Given the description of an element on the screen output the (x, y) to click on. 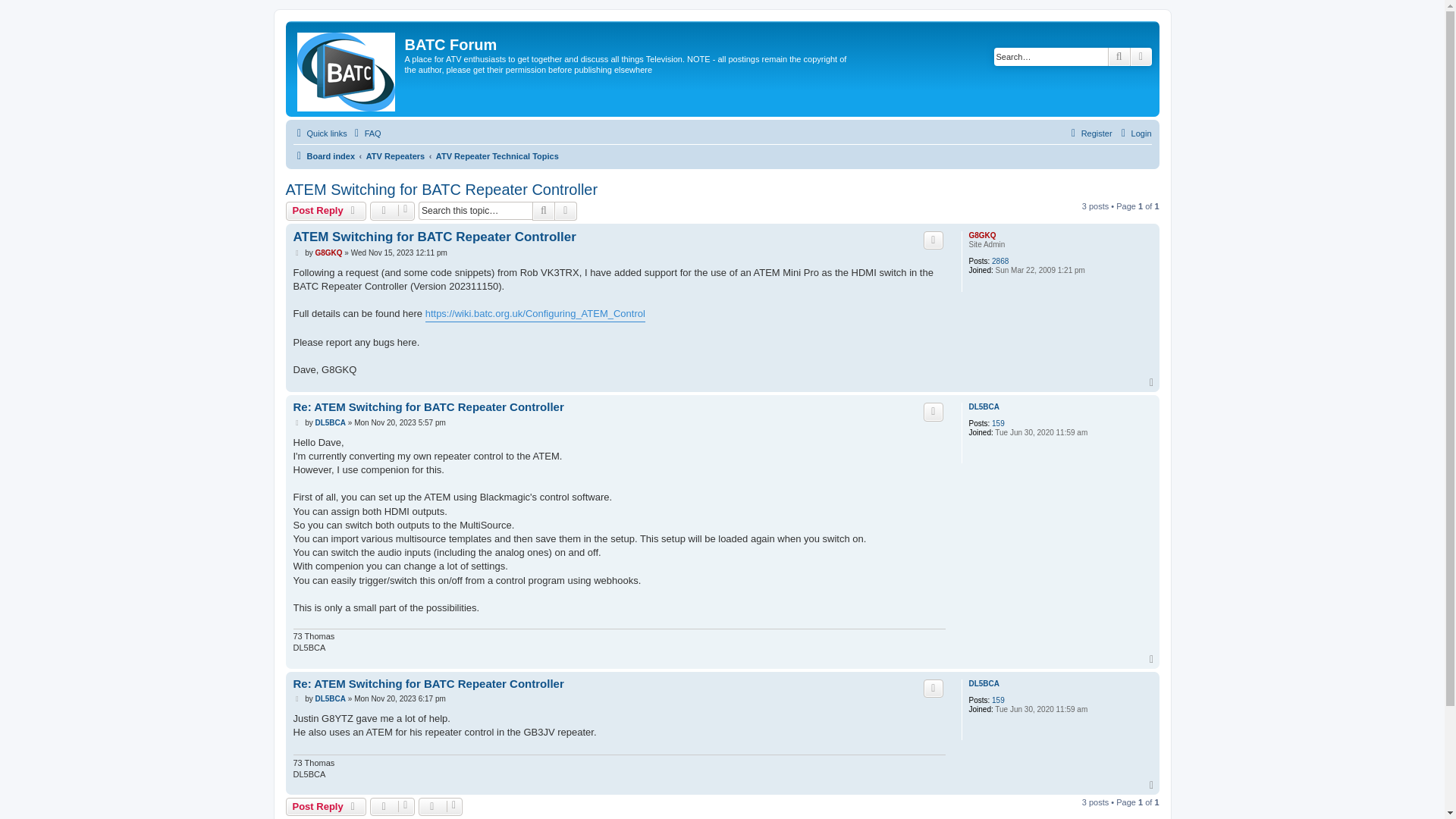
2868 (1000, 261)
Advanced search (1141, 56)
Re: ATEM Switching for BATC Repeater Controller (427, 407)
ATV Repeaters (395, 156)
159 (997, 423)
Register (1089, 133)
Board index (323, 156)
Post a reply (325, 210)
Frequently Asked Questions (365, 133)
Top (1151, 659)
